Given the description of an element on the screen output the (x, y) to click on. 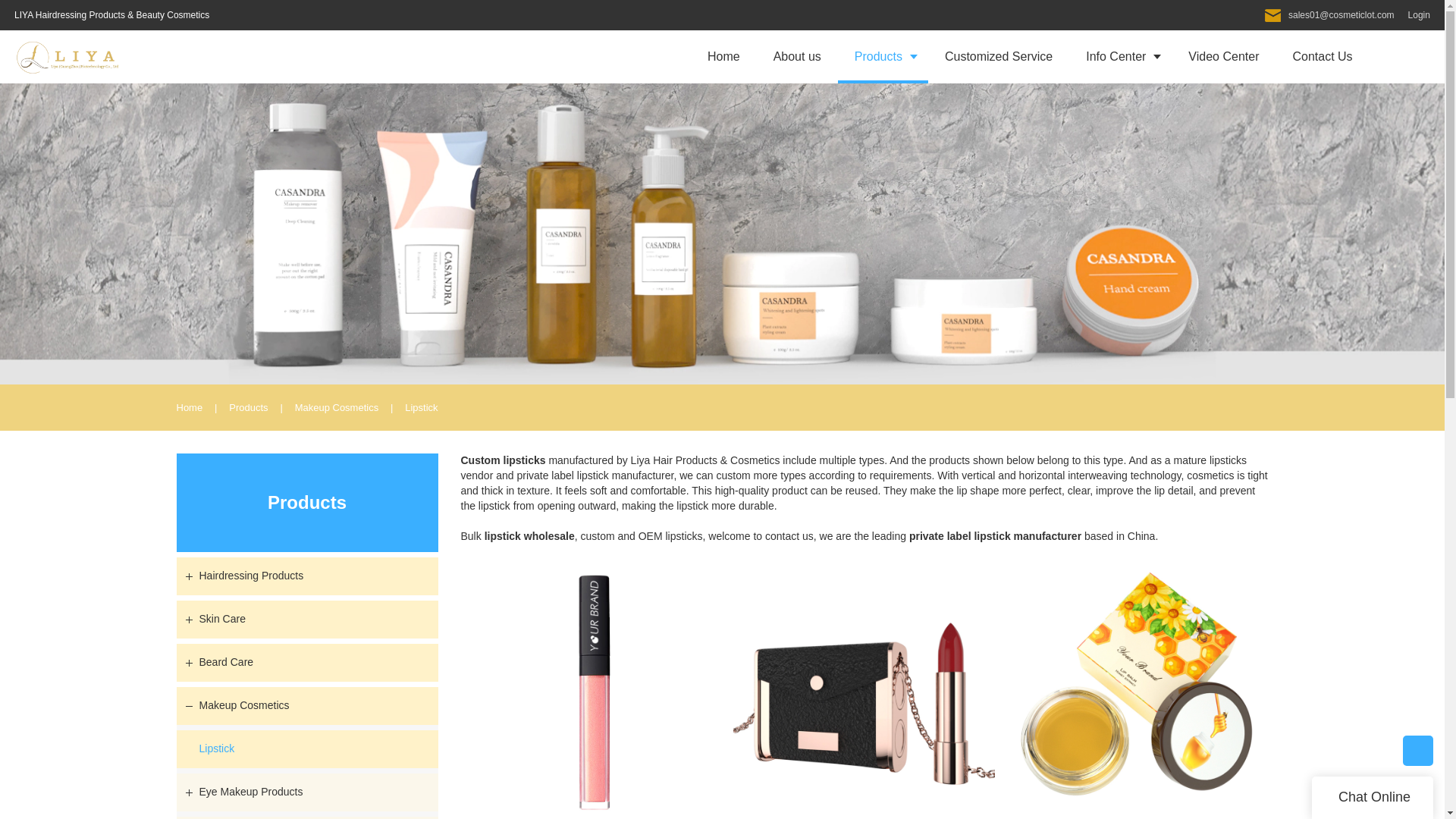
Beauty Cosmetics (172, 14)
Home (723, 56)
About us (797, 56)
Login (1414, 15)
Products (883, 56)
airdressing Products (83, 14)
